Given the description of an element on the screen output the (x, y) to click on. 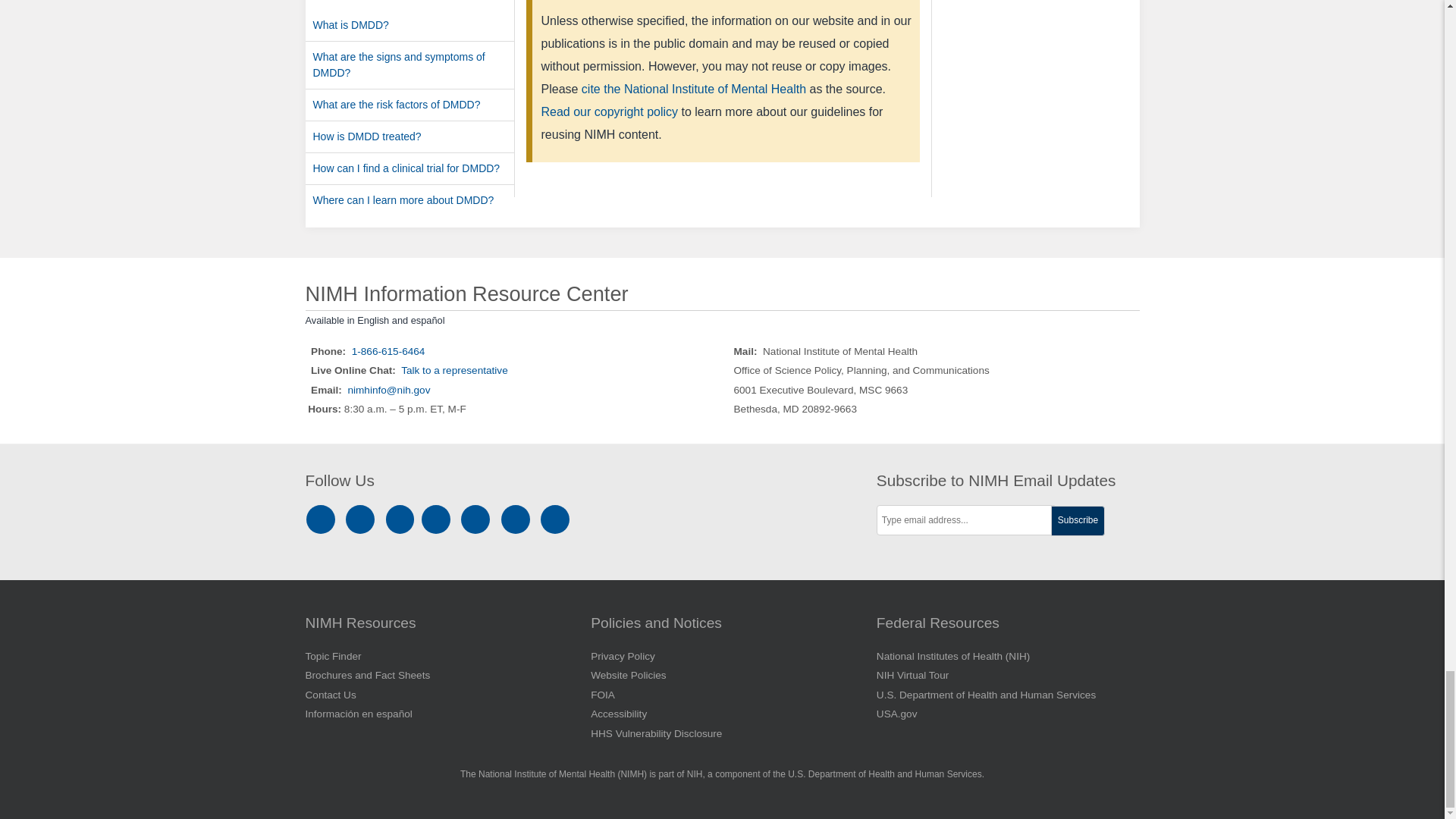
NIMH LinkedIn (402, 518)
Subscribe (1078, 521)
NIMH Instagram (322, 518)
NIMH Newsletters (515, 518)
NIMH Facebook (363, 518)
NIMH YouTube (478, 518)
NIMH News Feeds (555, 518)
NIMH Twitter (438, 518)
